Given the description of an element on the screen output the (x, y) to click on. 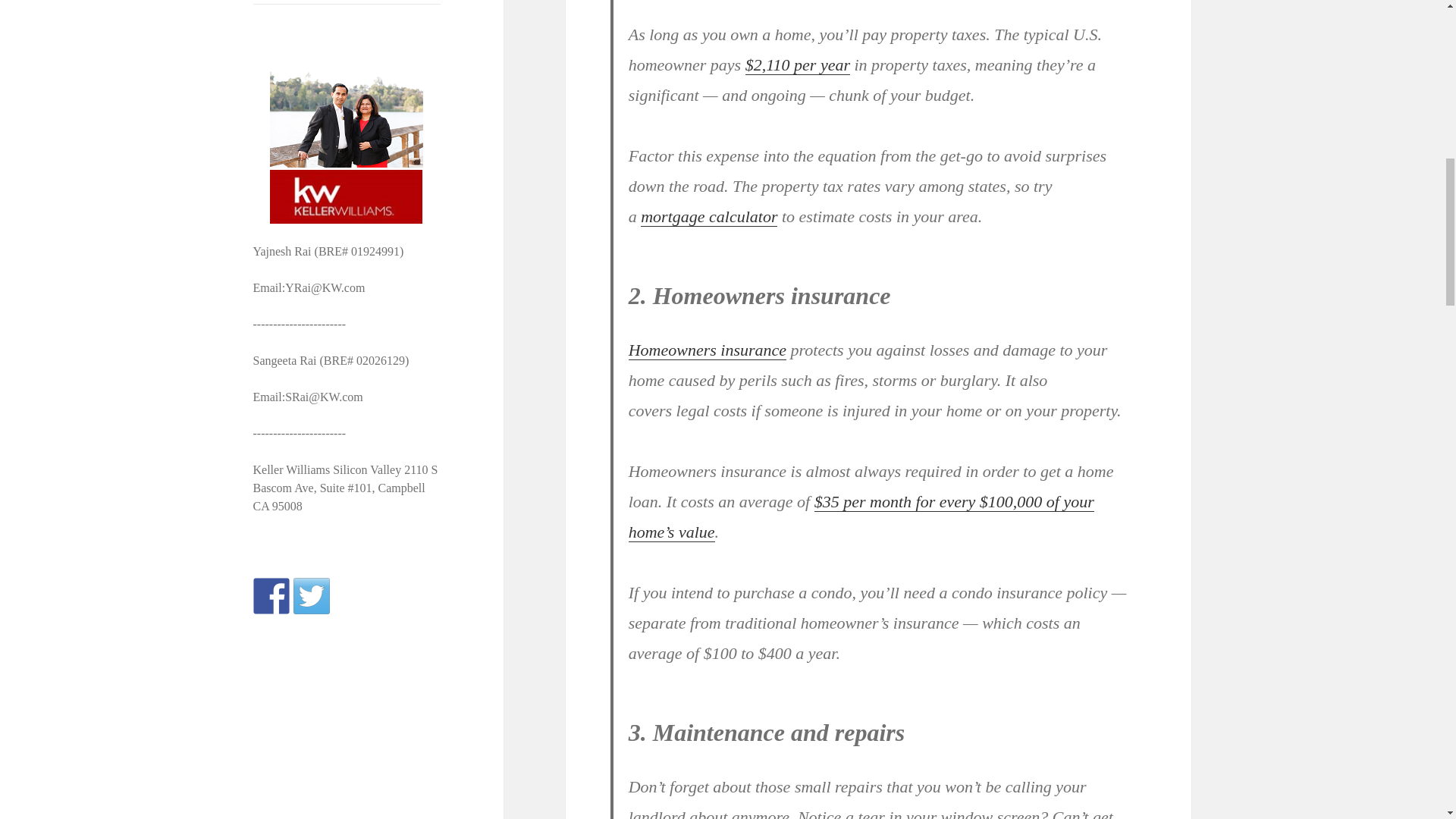
mortgage calculator (708, 216)
Follow us on Twitter (312, 596)
Follow us on Facebook (271, 596)
Login Customizer (347, 2)
Homeowners insurance (707, 350)
